Given the description of an element on the screen output the (x, y) to click on. 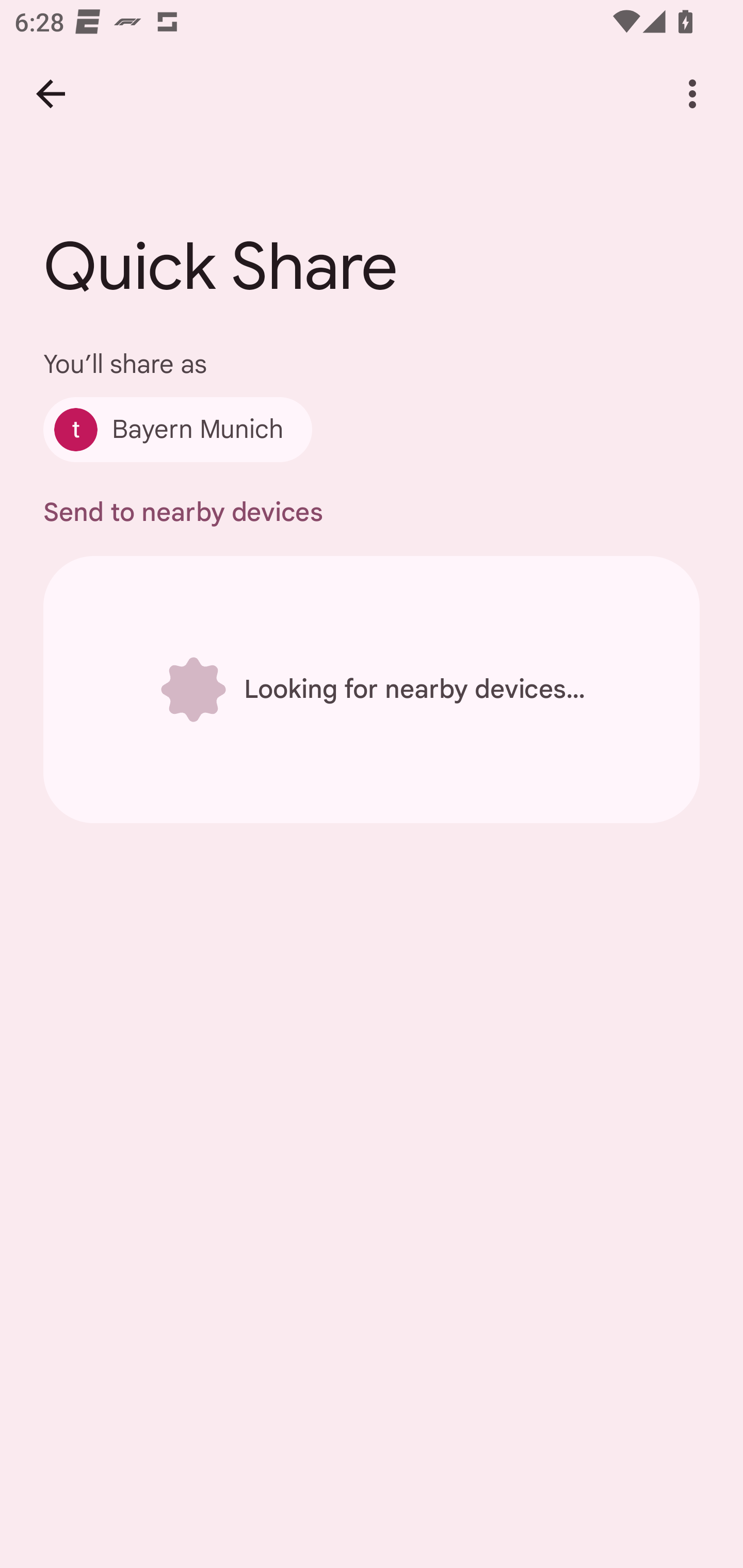
Back (50, 93)
More (692, 93)
Bayern Munich (177, 429)
